Given the description of an element on the screen output the (x, y) to click on. 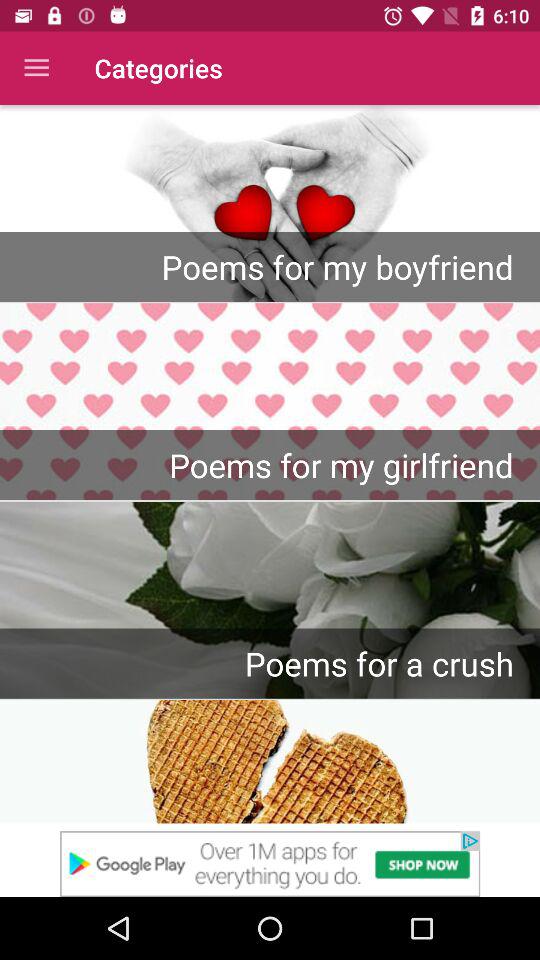
click on advertisement (270, 864)
